Given the description of an element on the screen output the (x, y) to click on. 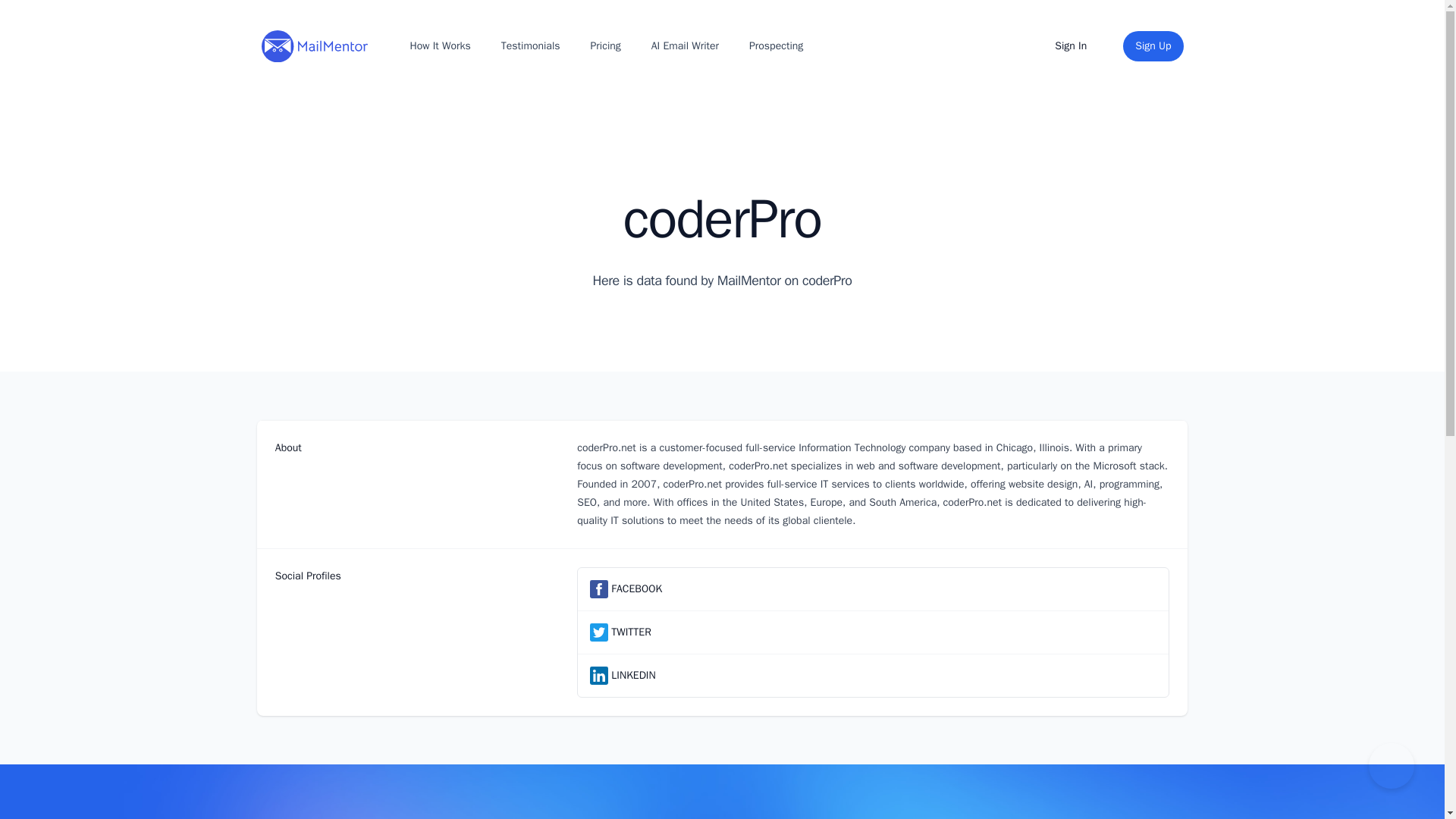
AI Email Writer (685, 46)
facebook (598, 588)
LINKEDIN (633, 675)
Pricing (606, 46)
Sign In (1070, 46)
twitter (598, 632)
How It Works (439, 46)
TWITTER (630, 632)
Sign Up (1152, 46)
Prospecting (775, 46)
